Given the description of an element on the screen output the (x, y) to click on. 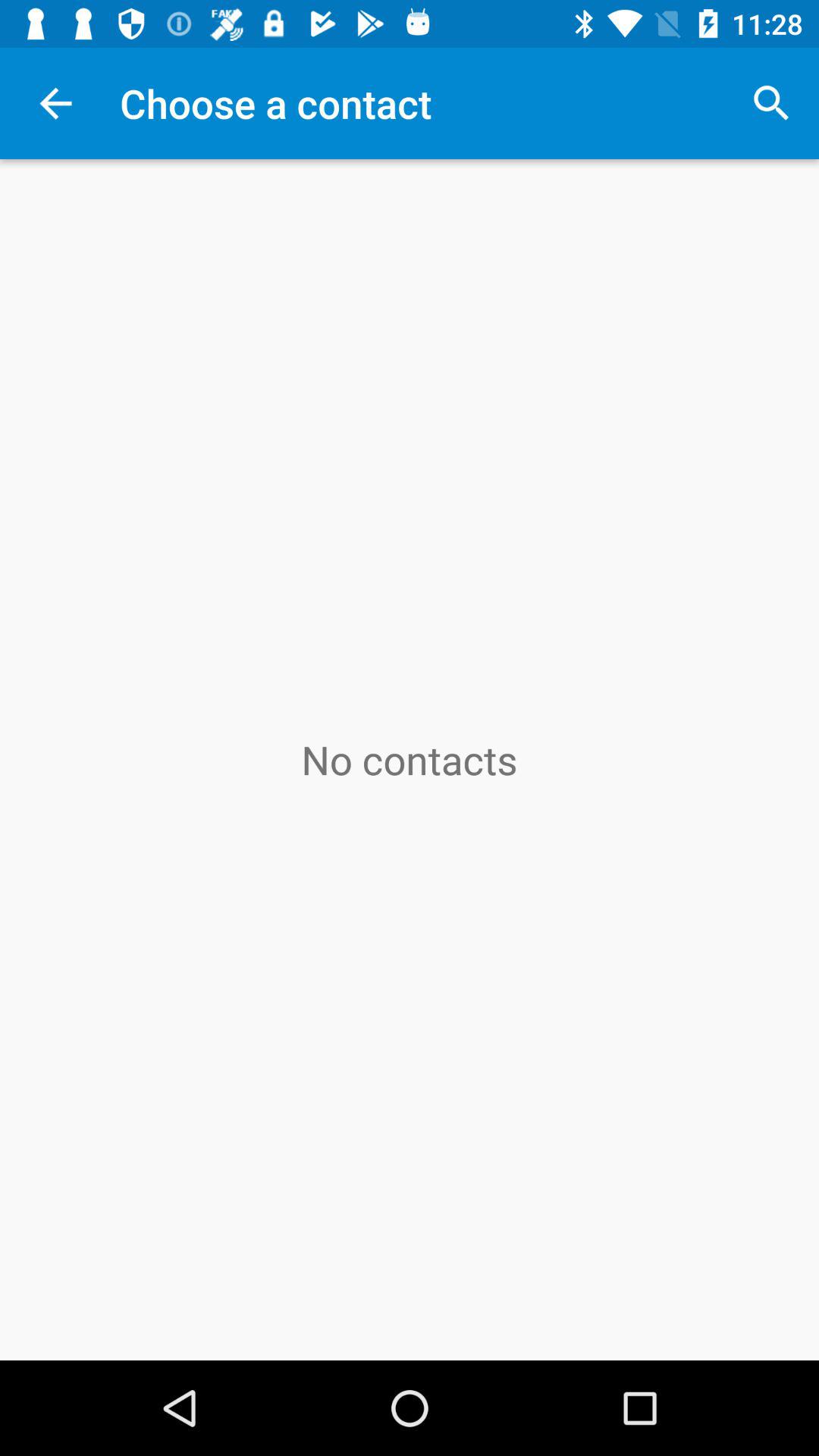
turn off the item at the top right corner (771, 103)
